Given the description of an element on the screen output the (x, y) to click on. 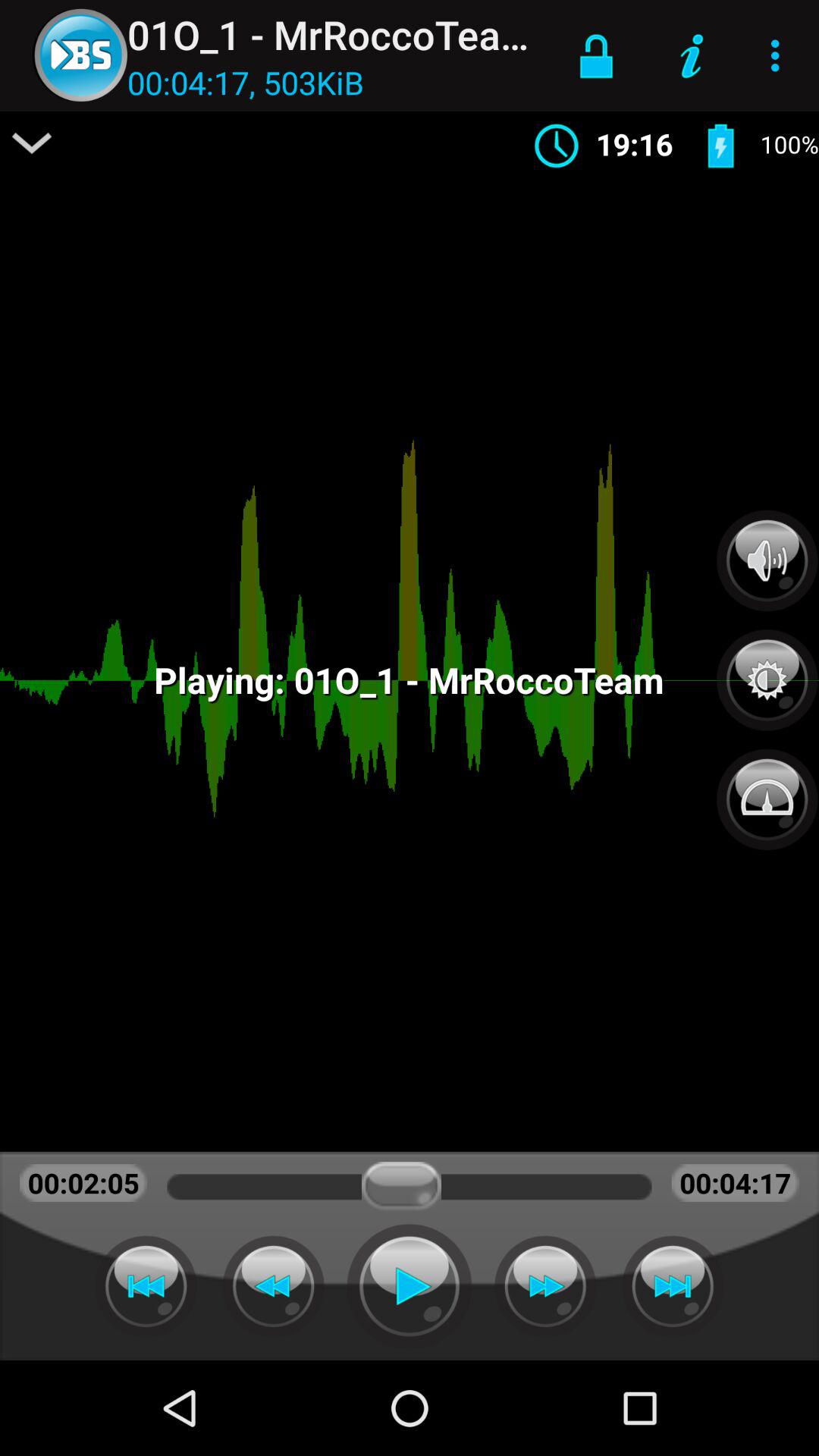
brightness and contrast (767, 671)
